Given the description of an element on the screen output the (x, y) to click on. 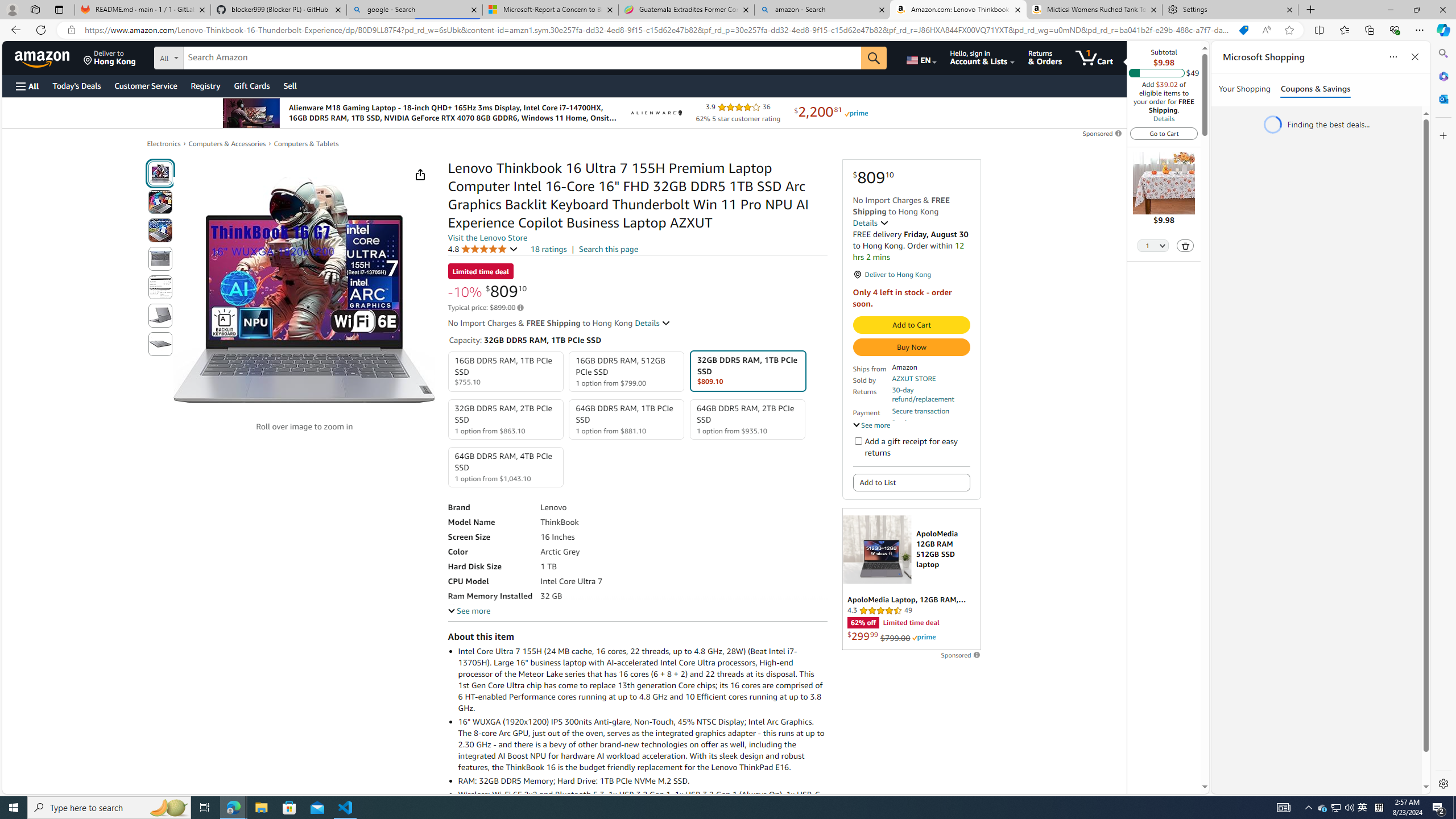
64GB DDR5 RAM, 4TB PCIe SSD 1 option from $1,043.10 (505, 466)
Computers & Accessories (226, 144)
Returns & Orders (1045, 57)
Gift Cards (251, 85)
